Given the description of an element on the screen output the (x, y) to click on. 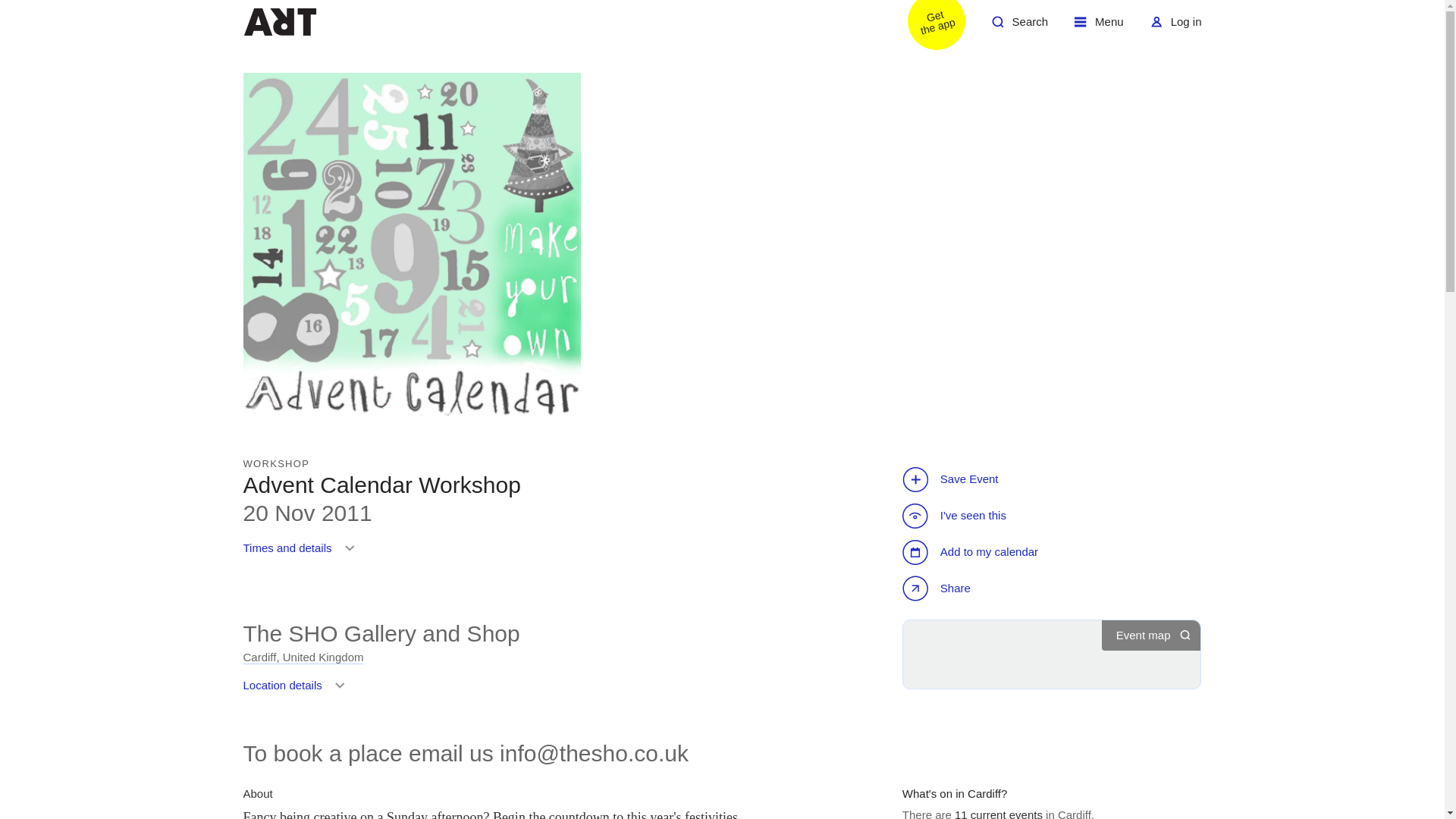
Share (297, 690)
The SHO Gallery and Shop (938, 589)
Cardiff, United Kingdom (1019, 26)
What's on in Cardiff? (381, 633)
Add to my calendar (1099, 26)
Welcome to ArtRabbit (302, 657)
11 current events (302, 553)
